Given the description of an element on the screen output the (x, y) to click on. 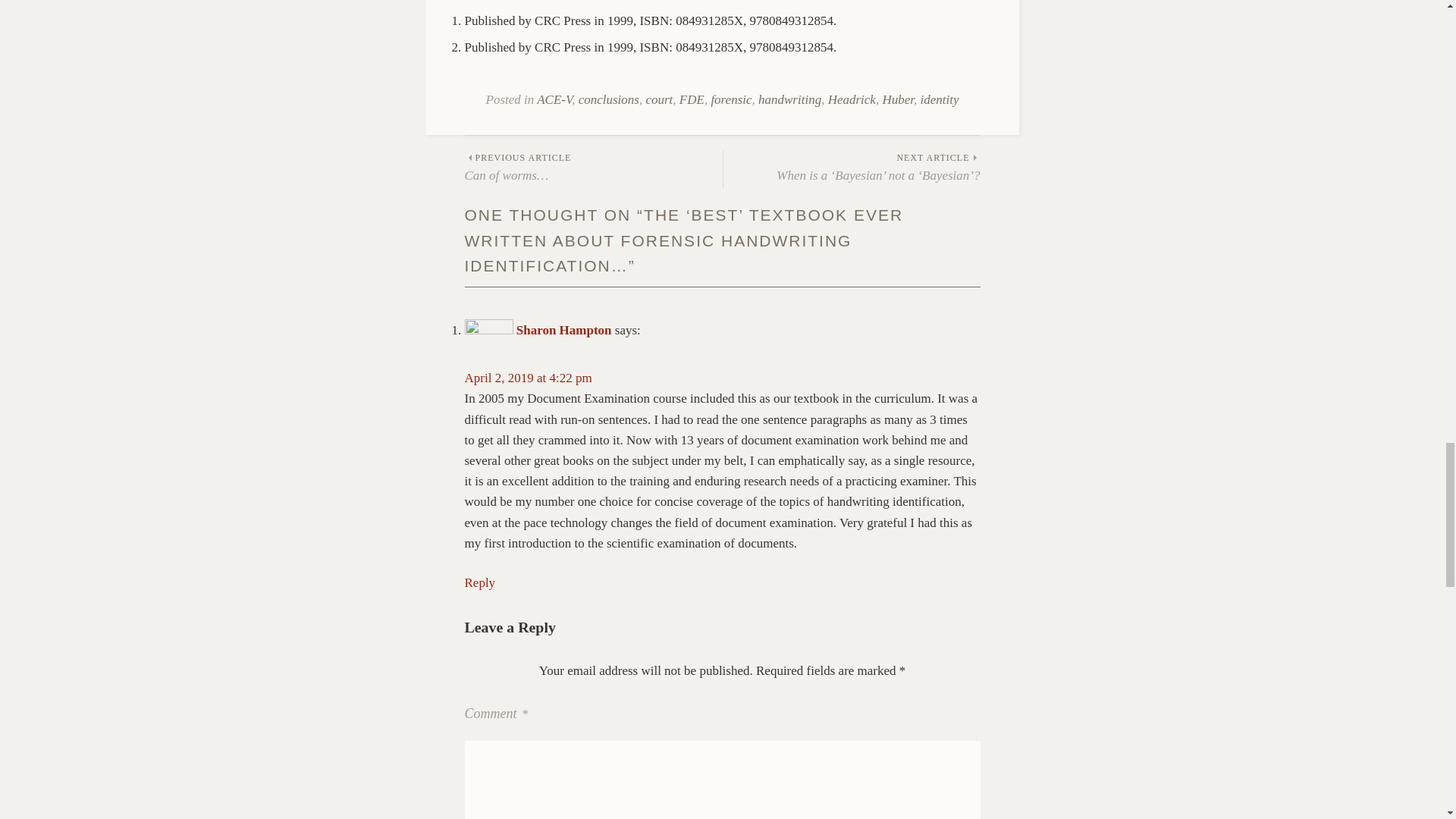
conclusions (608, 99)
forensic (730, 99)
court (658, 99)
FDE (691, 99)
Headrick (852, 99)
ACE-V (554, 99)
handwriting (789, 99)
